Given the description of an element on the screen output the (x, y) to click on. 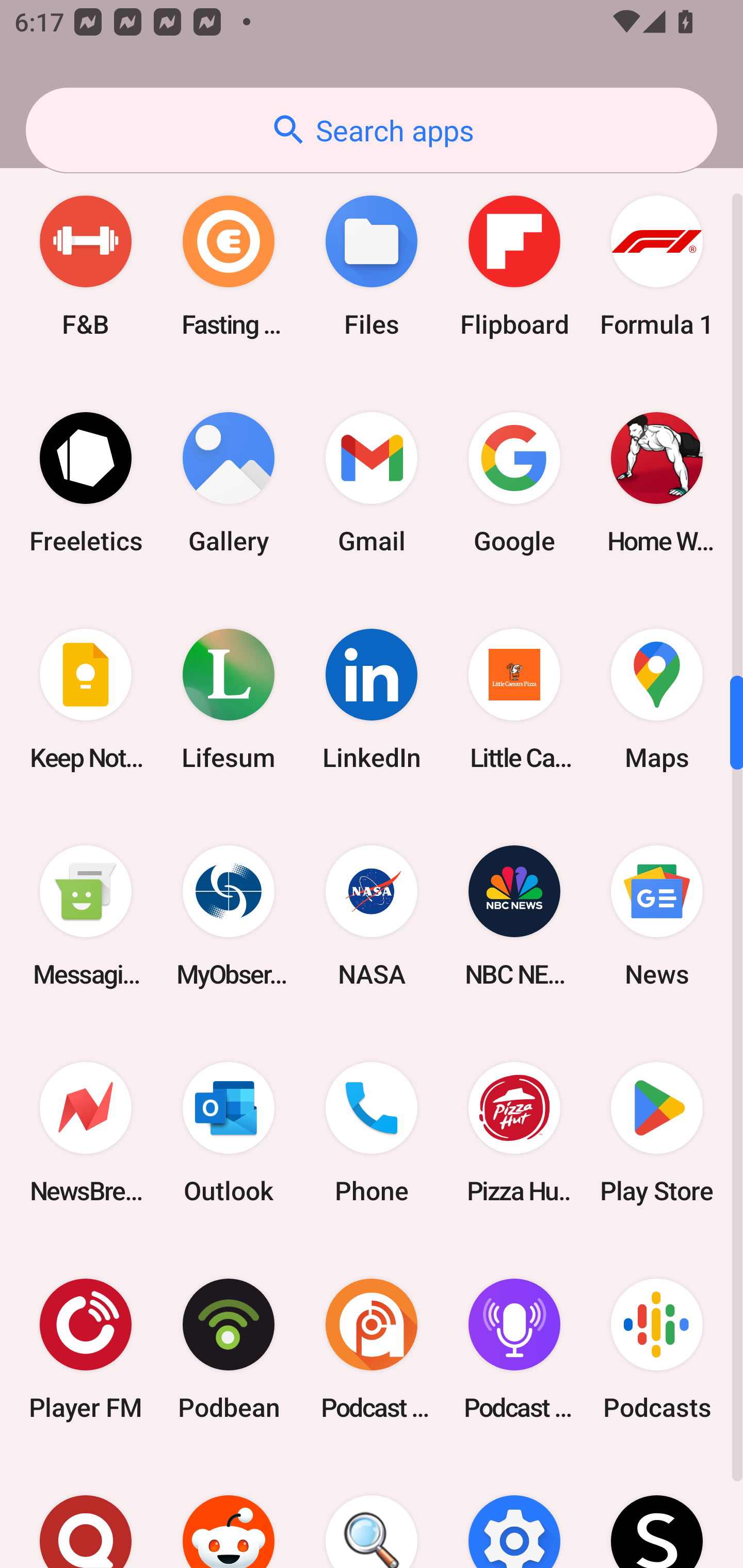
  Search apps (371, 130)
F&B (85, 266)
Fasting Coach (228, 266)
Files (371, 266)
Flipboard (514, 266)
Formula 1 (656, 266)
Freeletics (85, 482)
Gallery (228, 482)
Gmail (371, 482)
Google (514, 482)
Home Workout (656, 482)
Keep Notes (85, 699)
Lifesum (228, 699)
LinkedIn (371, 699)
Little Caesars Pizza (514, 699)
Maps (656, 699)
Messaging (85, 915)
MyObservatory (228, 915)
NASA (371, 915)
NBC NEWS (514, 915)
News (656, 915)
NewsBreak (85, 1131)
Outlook (228, 1131)
Phone (371, 1131)
Pizza Hut HK & Macau (514, 1131)
Play Store (656, 1131)
Player FM (85, 1349)
Podbean (228, 1349)
Podcast Addict (371, 1349)
Podcast Player (514, 1349)
Podcasts (656, 1349)
Quora (85, 1513)
Reddit (228, 1513)
Search (371, 1513)
Settings (514, 1513)
SHEIN (656, 1513)
